Given the description of an element on the screen output the (x, y) to click on. 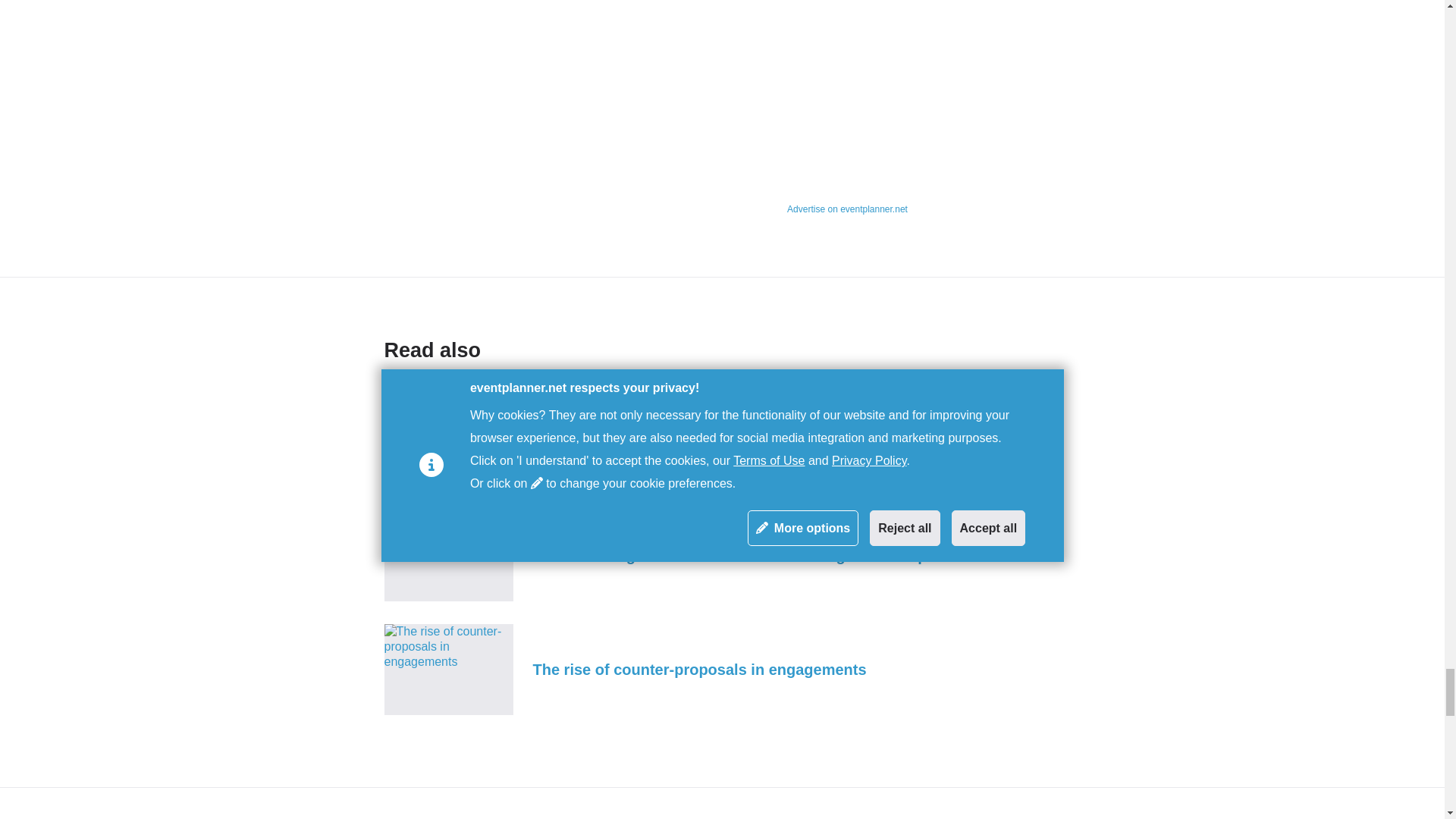
Who will be the Best Event Company or Venue of 2024? (721, 441)
The rise of counter-proposals in engagements (721, 669)
